Given the description of an element on the screen output the (x, y) to click on. 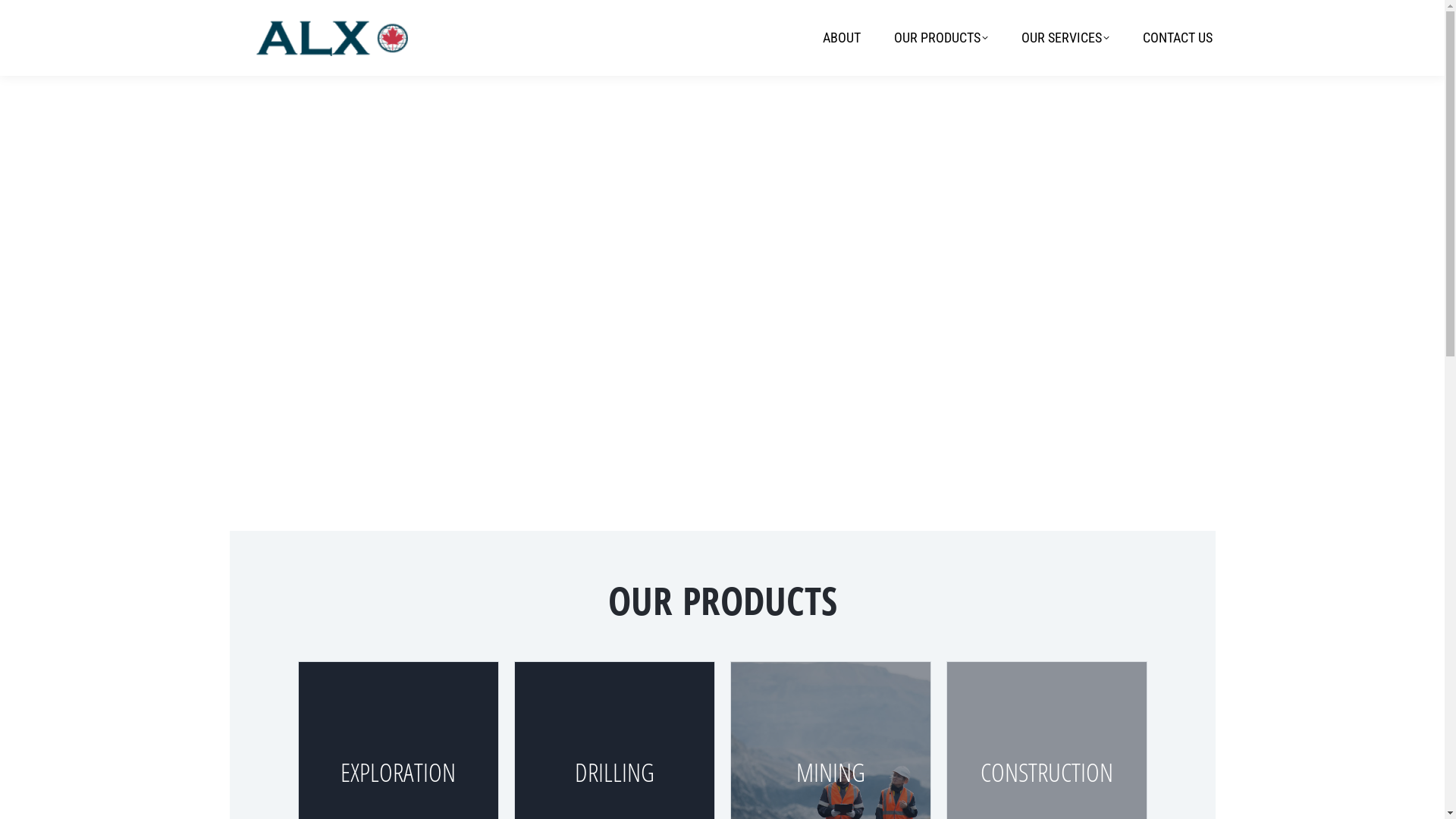
OUR PRODUCTS Element type: text (940, 37)
ABOUT Element type: text (840, 37)
CONTACT US Element type: text (1176, 37)
OUR SERVICES Element type: text (1064, 37)
